Given the description of an element on the screen output the (x, y) to click on. 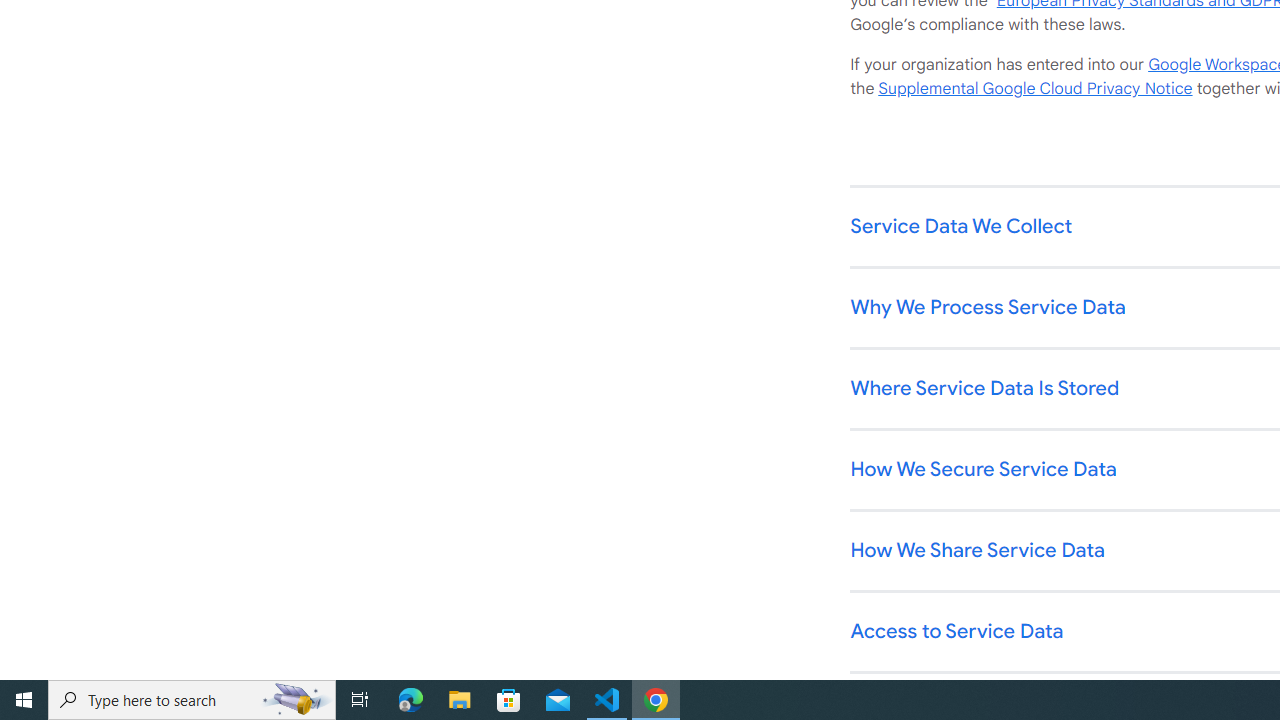
Supplemental Google Cloud Privacy Notice (1035, 89)
